Given the description of an element on the screen output the (x, y) to click on. 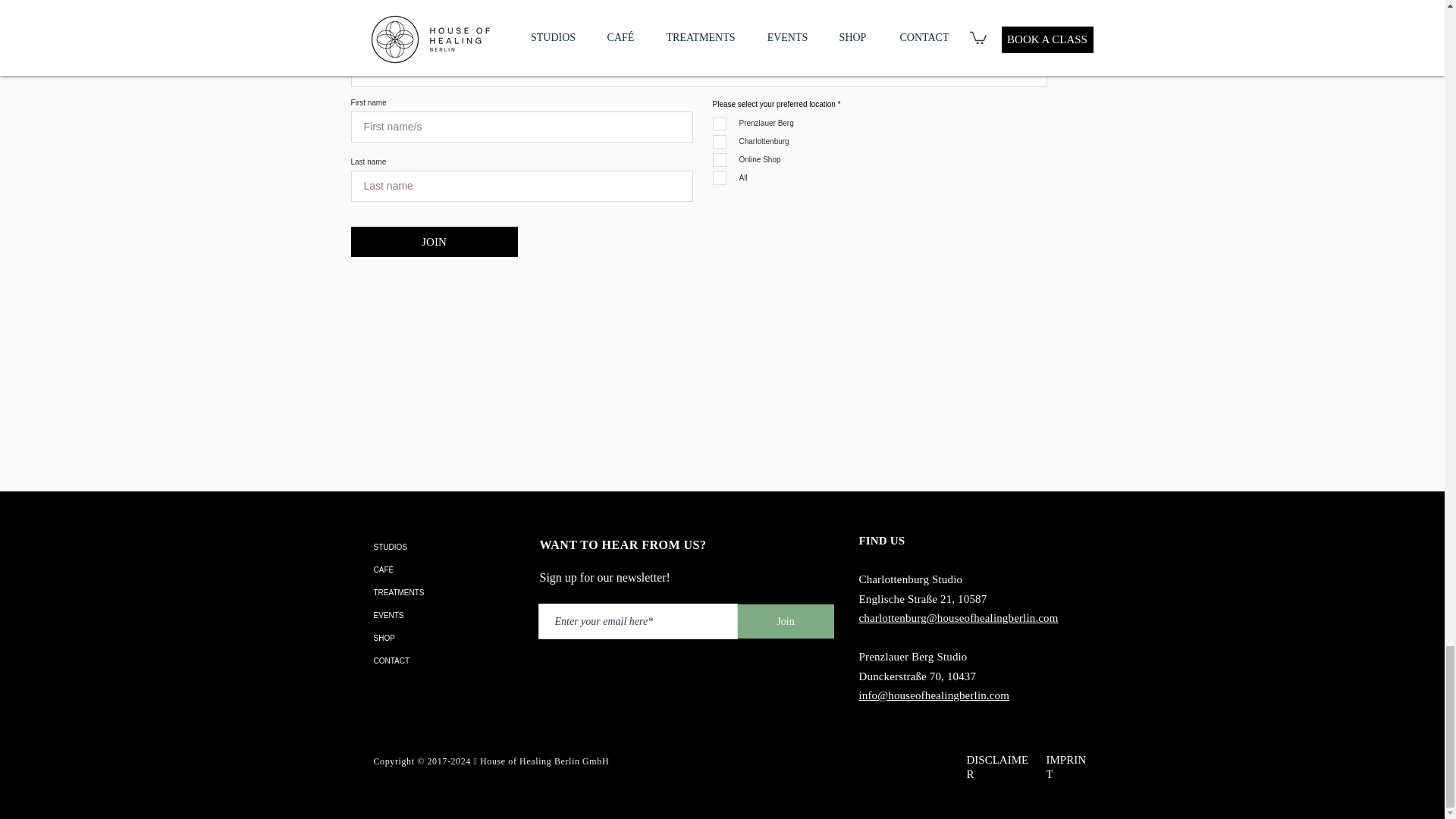
TREATMENTS (447, 592)
JOIN (433, 241)
EVENTS (447, 615)
